Given the description of an element on the screen output the (x, y) to click on. 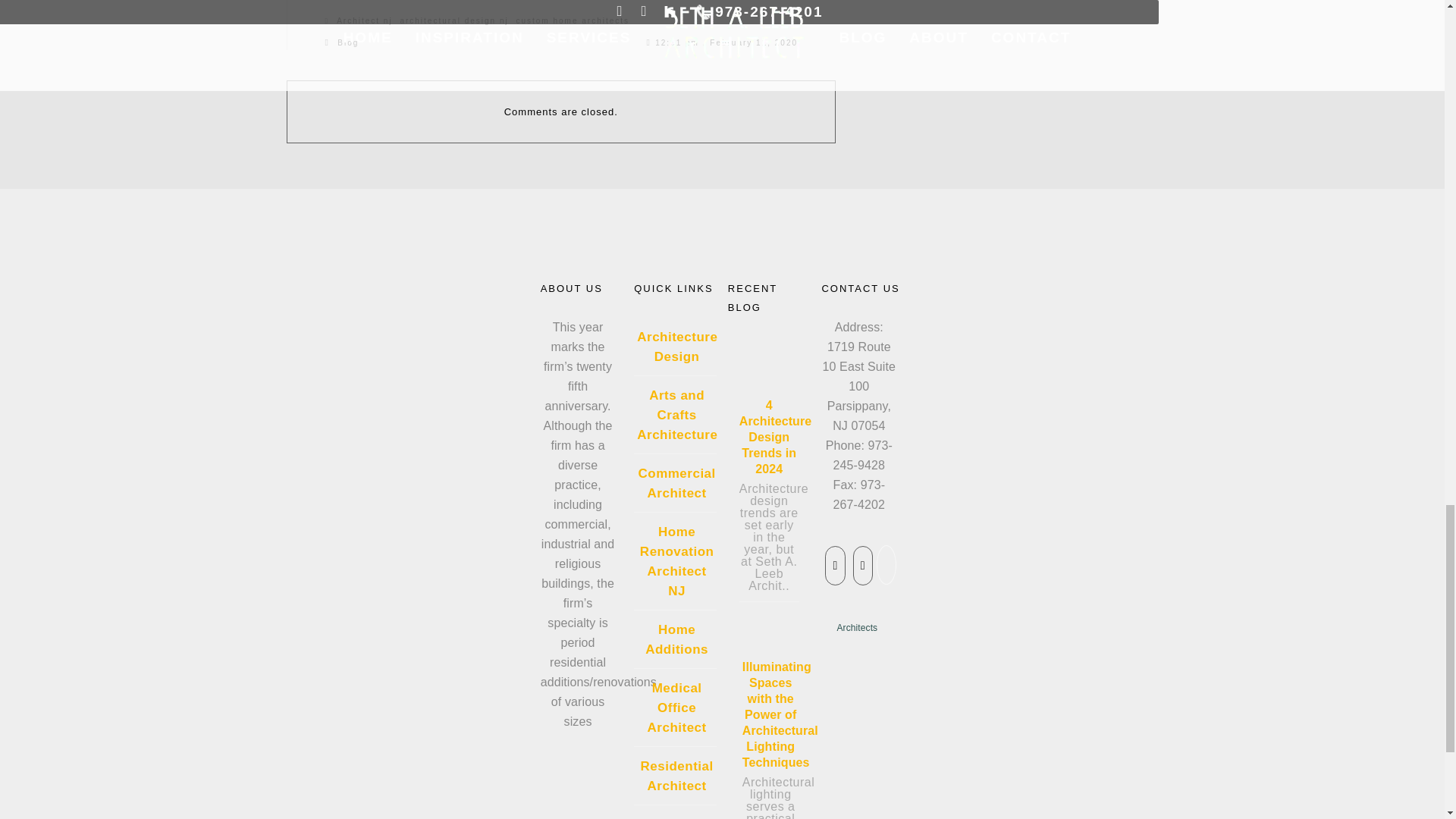
4 Architecture Design Trends in 2024 (763, 372)
Permalink to Build or Buy? We Say Build! (726, 42)
